Given the description of an element on the screen output the (x, y) to click on. 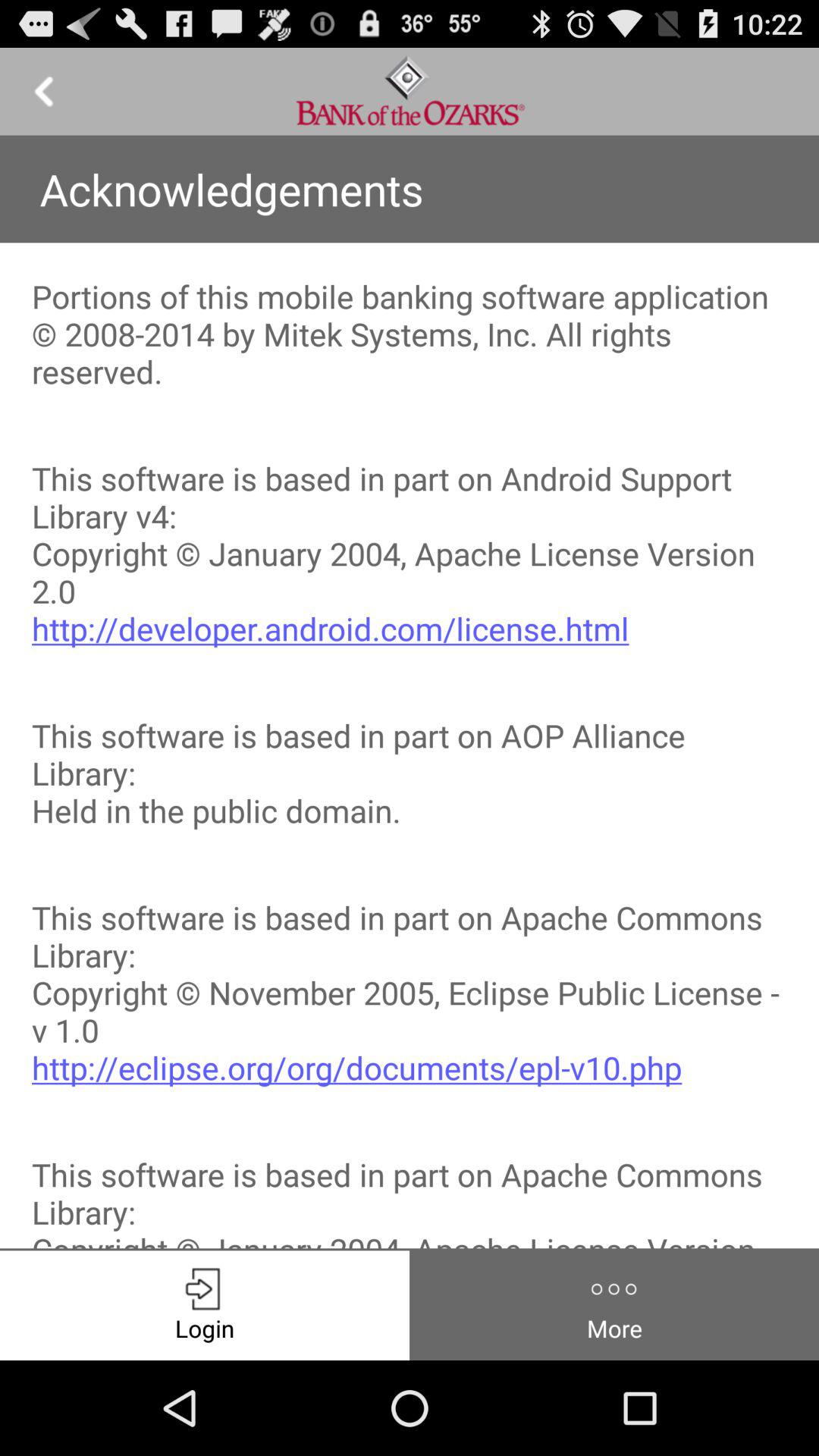
go to previous (43, 91)
